Given the description of an element on the screen output the (x, y) to click on. 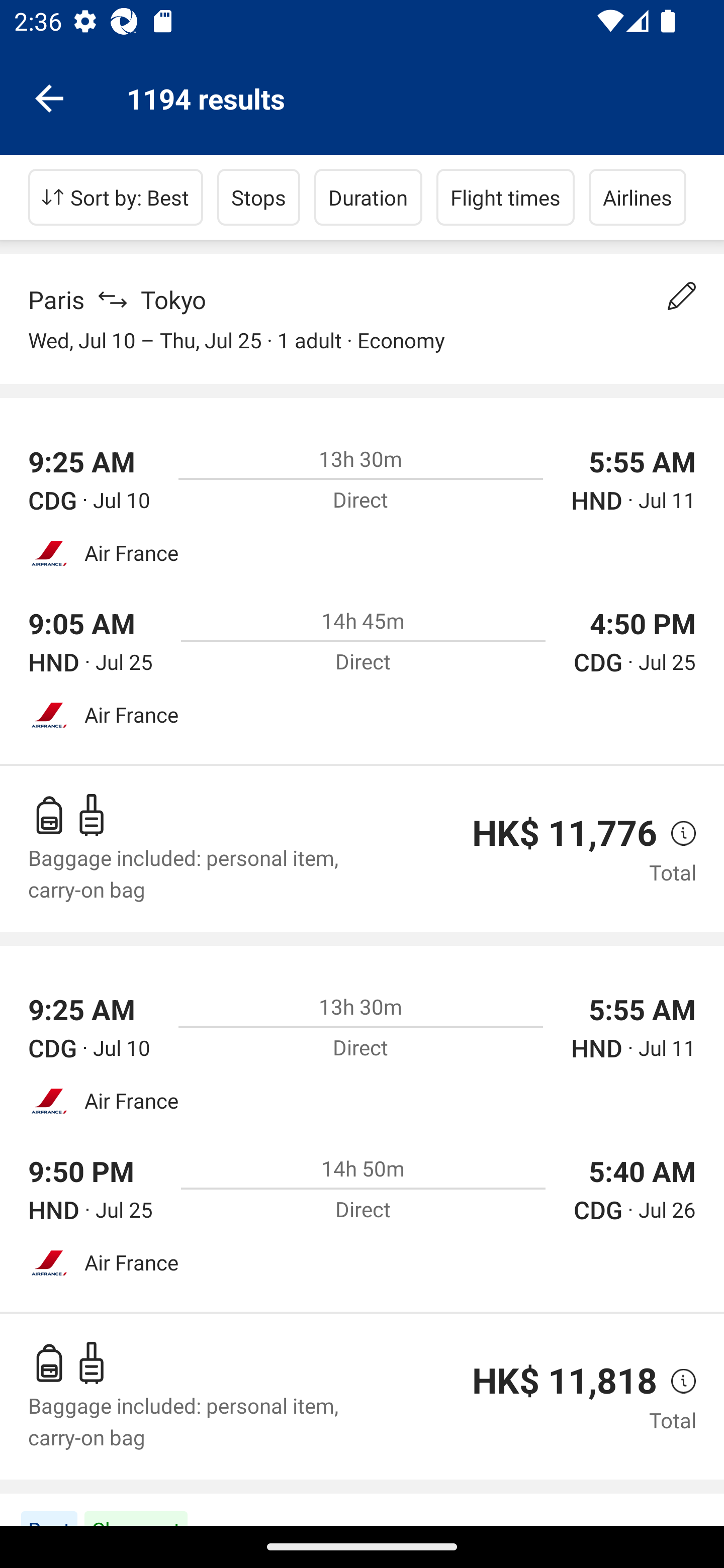
Navigate up (49, 97)
Sort by: Best (115, 197)
Stops (258, 197)
Duration (368, 197)
Flight times (505, 197)
Airlines (637, 197)
Change your search details (681, 296)
HK$ 11,776 (564, 833)
view price details, opens a pop-up (676, 833)
HK$ 11,818 (564, 1380)
view price details, opens a pop-up (676, 1380)
